Given the description of an element on the screen output the (x, y) to click on. 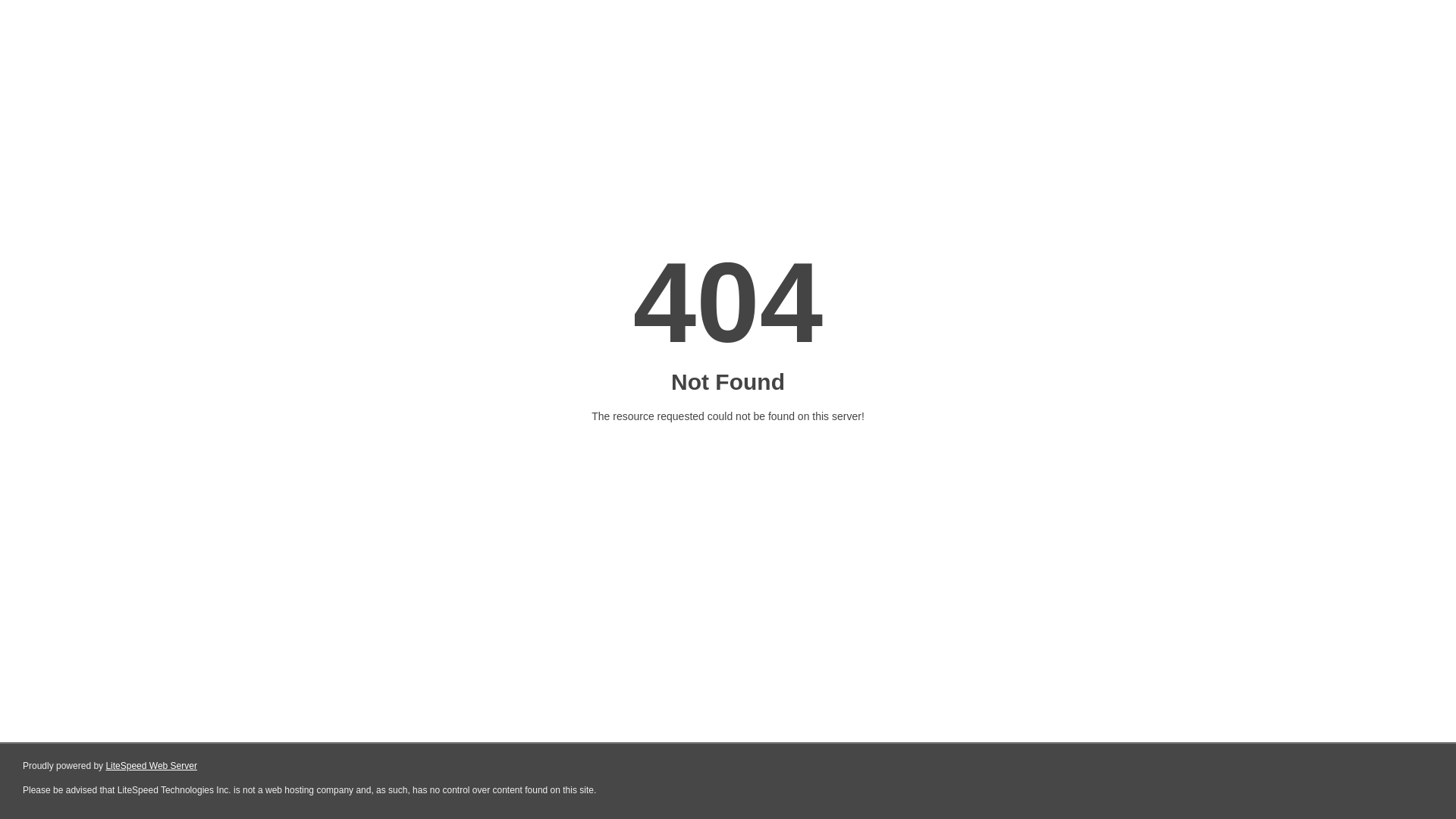
LiteSpeed Web Server Element type: text (151, 765)
